Given the description of an element on the screen output the (x, y) to click on. 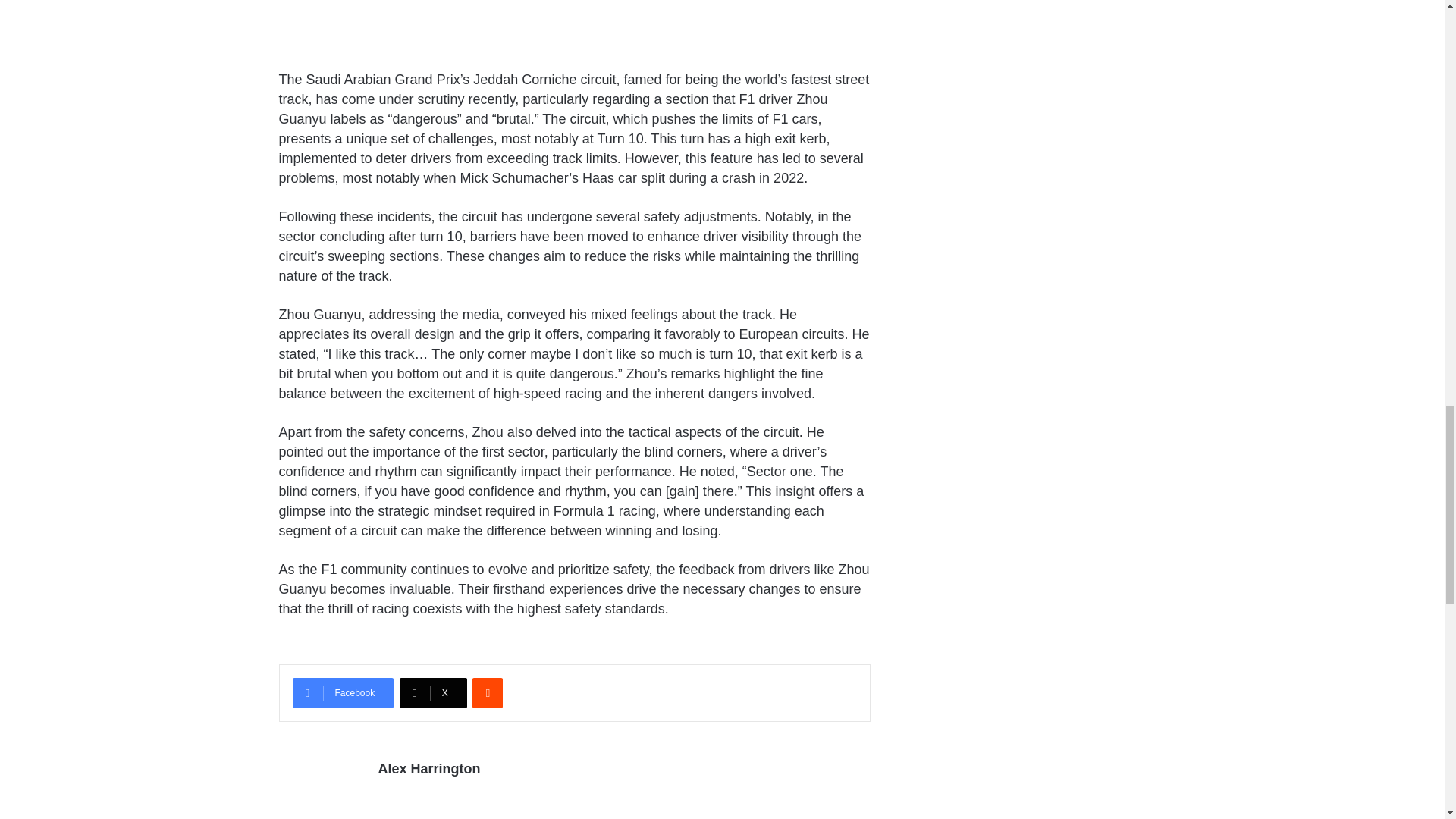
Facebook (343, 693)
Reddit (486, 693)
X (432, 693)
